Given the description of an element on the screen output the (x, y) to click on. 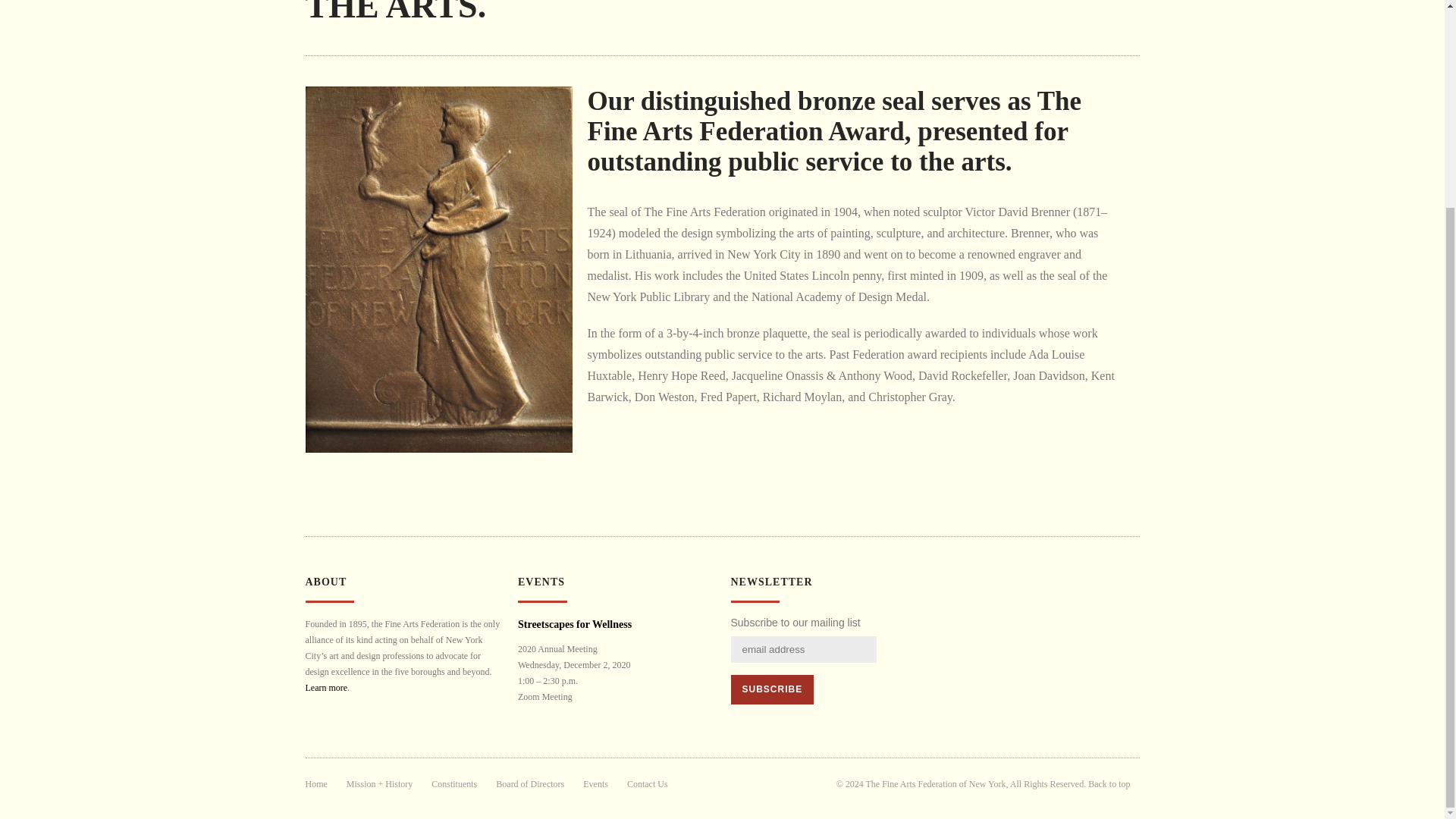
Subscribe (771, 689)
Board of Directors (530, 783)
Streetscapes for Wellness (574, 624)
Subscribe (771, 689)
Learn more (325, 687)
Home (315, 783)
Constituents (453, 783)
Events (595, 783)
Contact Us (647, 783)
Back to top (1108, 783)
